Given the description of an element on the screen output the (x, y) to click on. 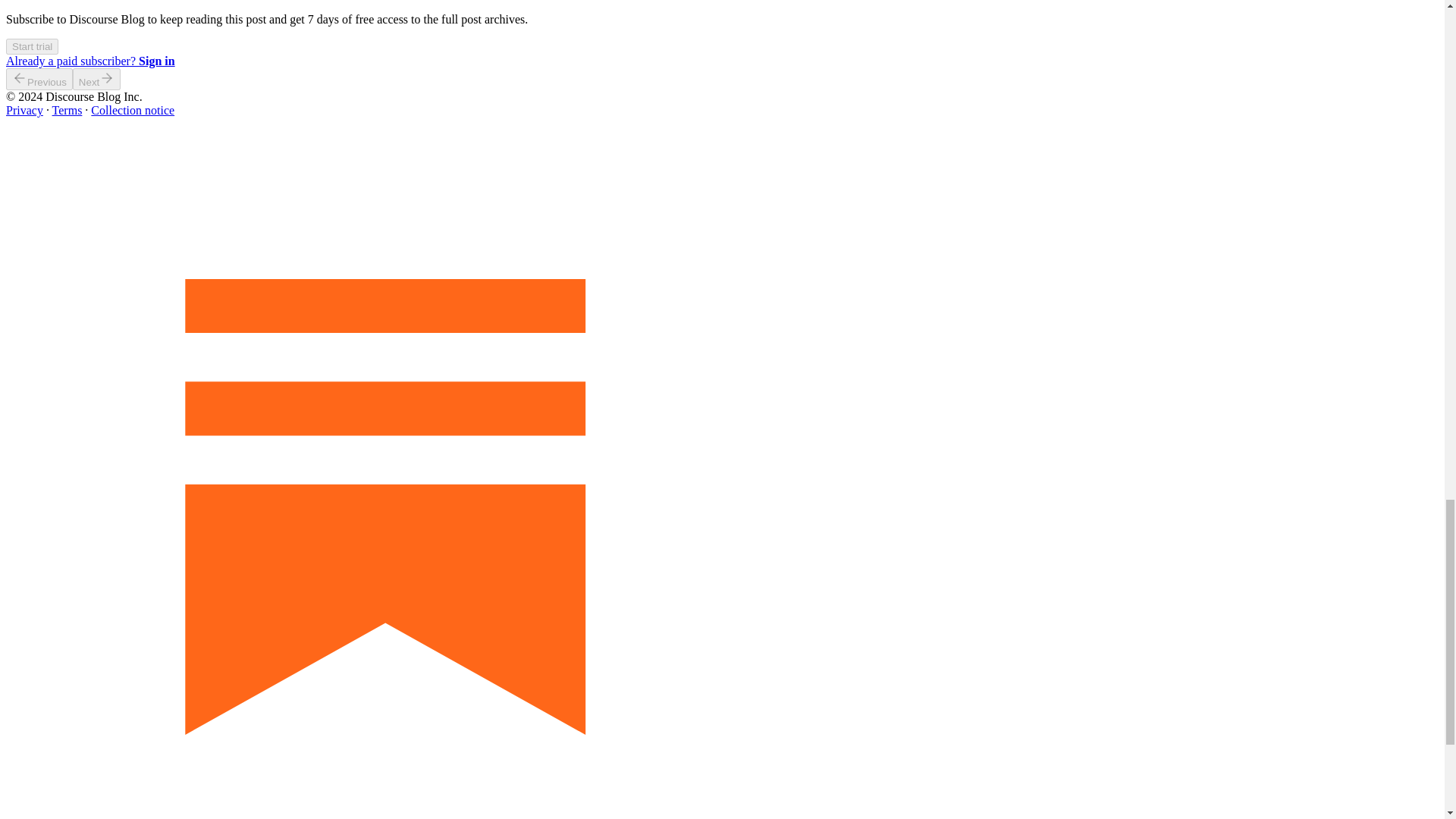
Terms (67, 110)
Previous (38, 78)
Start trial (31, 46)
Already a paid subscriber? Sign in (89, 60)
Privacy (24, 110)
Next (96, 78)
Start trial (31, 45)
Collection notice (132, 110)
